Given the description of an element on the screen output the (x, y) to click on. 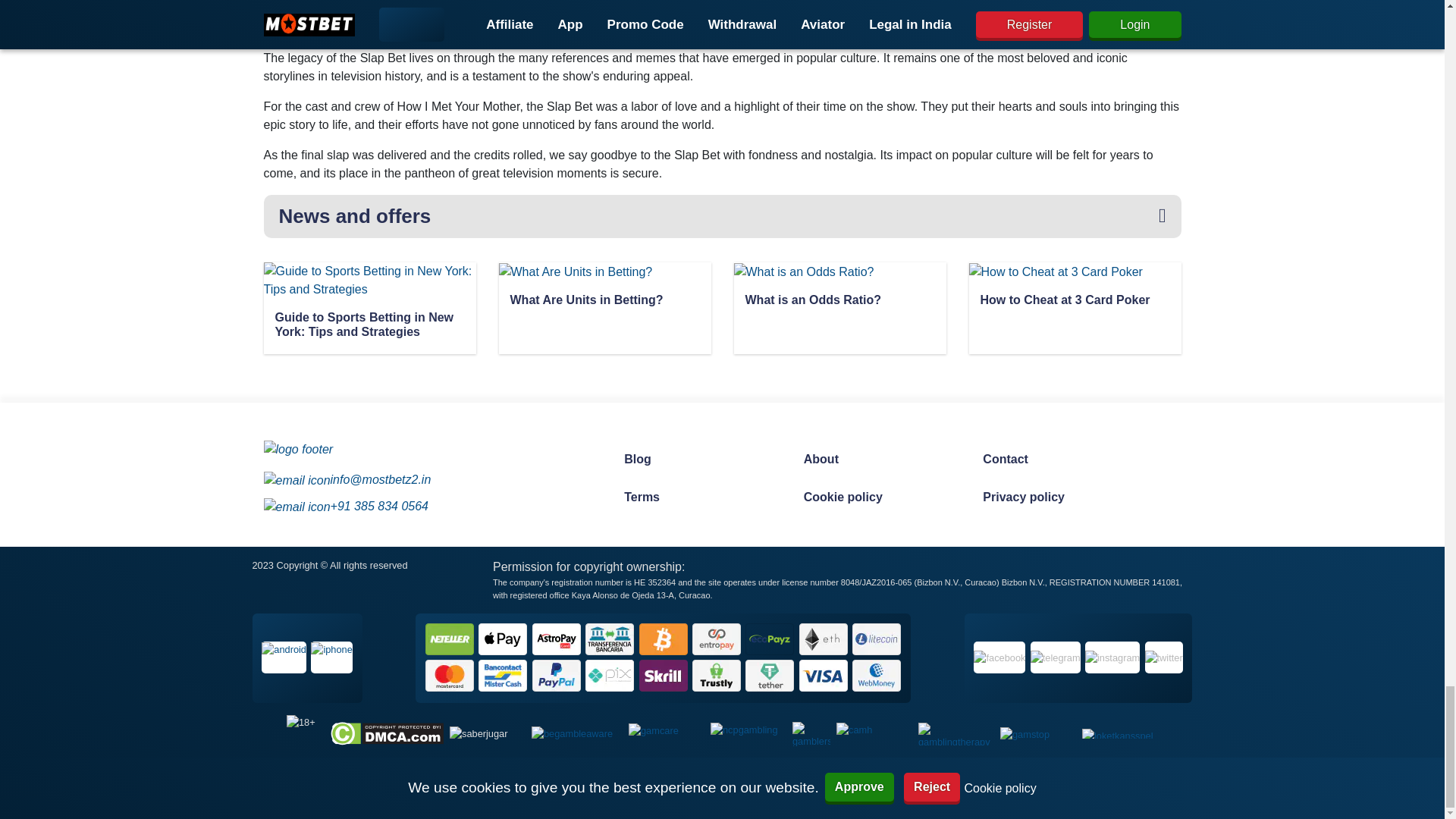
Privacy policy (1056, 497)
DMCA.com Protection Status (387, 733)
Guide to Sports Betting in New York: Tips and Strategies (369, 326)
About (877, 459)
What Are Units in Betting? (603, 301)
Blog (697, 459)
Cookie policy (877, 497)
What is an Odds Ratio? (839, 301)
Terms (697, 497)
How to Cheat at 3 Card Poker (1074, 301)
Contact (1056, 459)
